Given the description of an element on the screen output the (x, y) to click on. 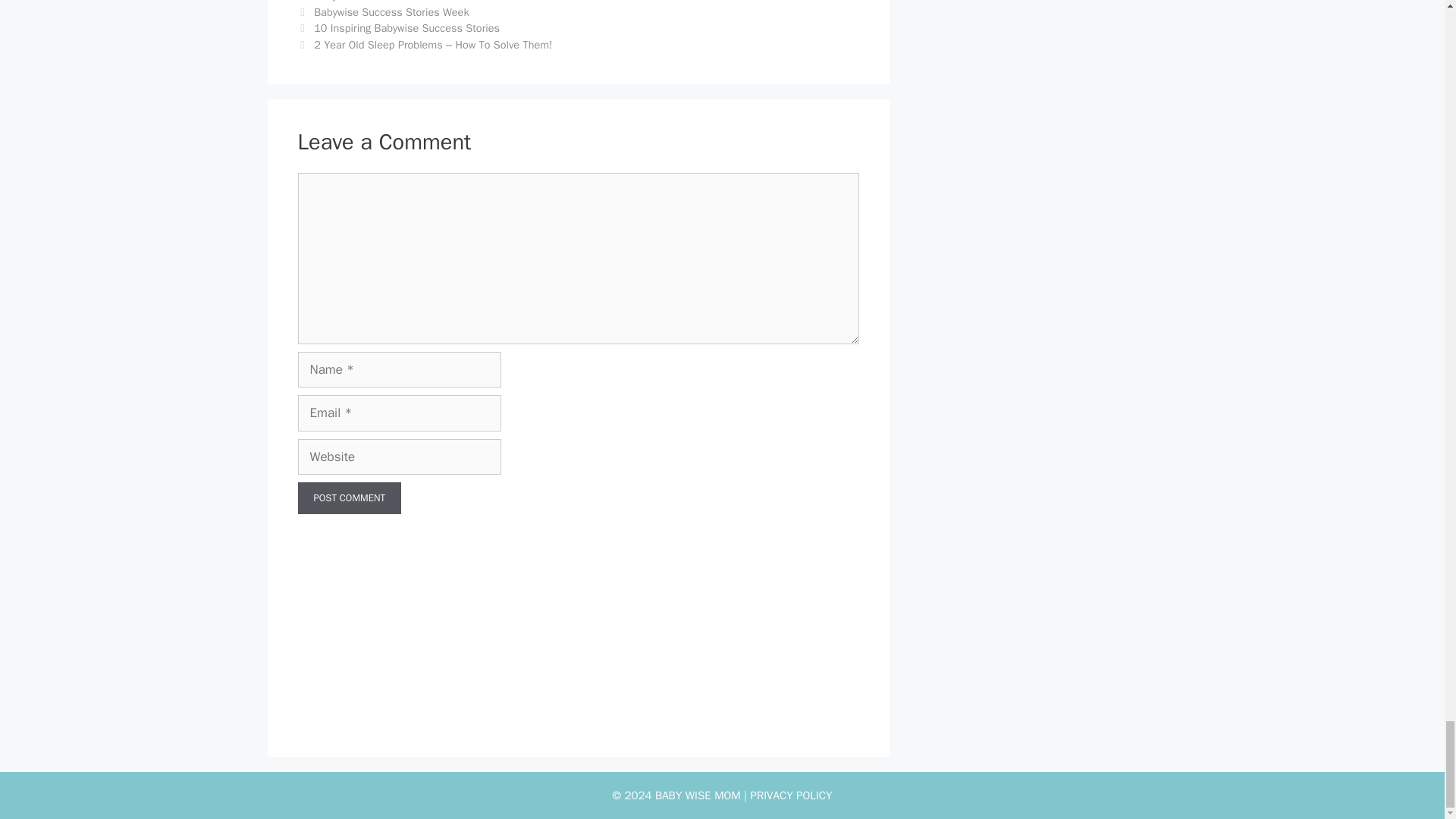
Post Comment (349, 498)
